Given the description of an element on the screen output the (x, y) to click on. 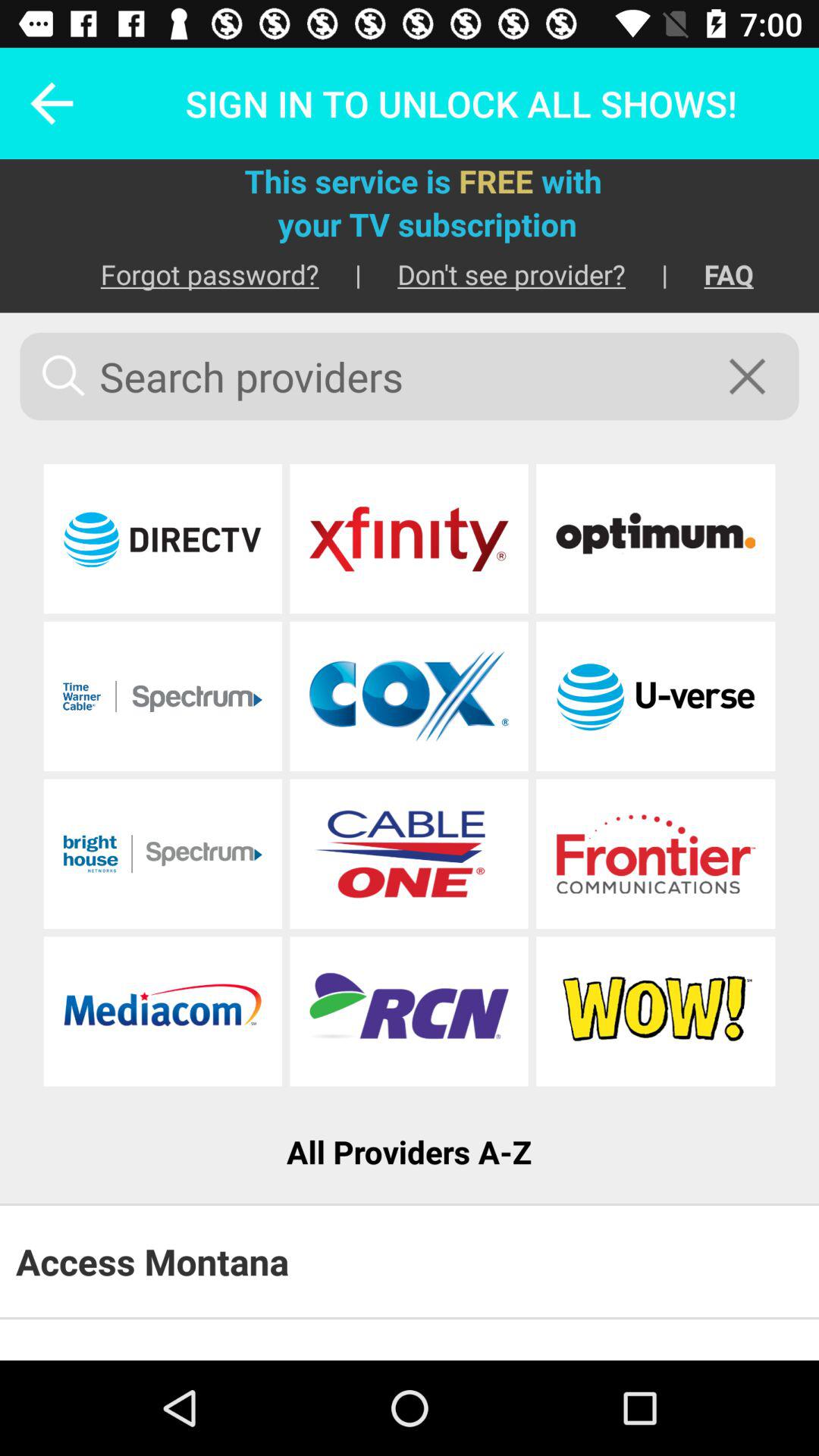
choose the don t see (493, 273)
